Given the description of an element on the screen output the (x, y) to click on. 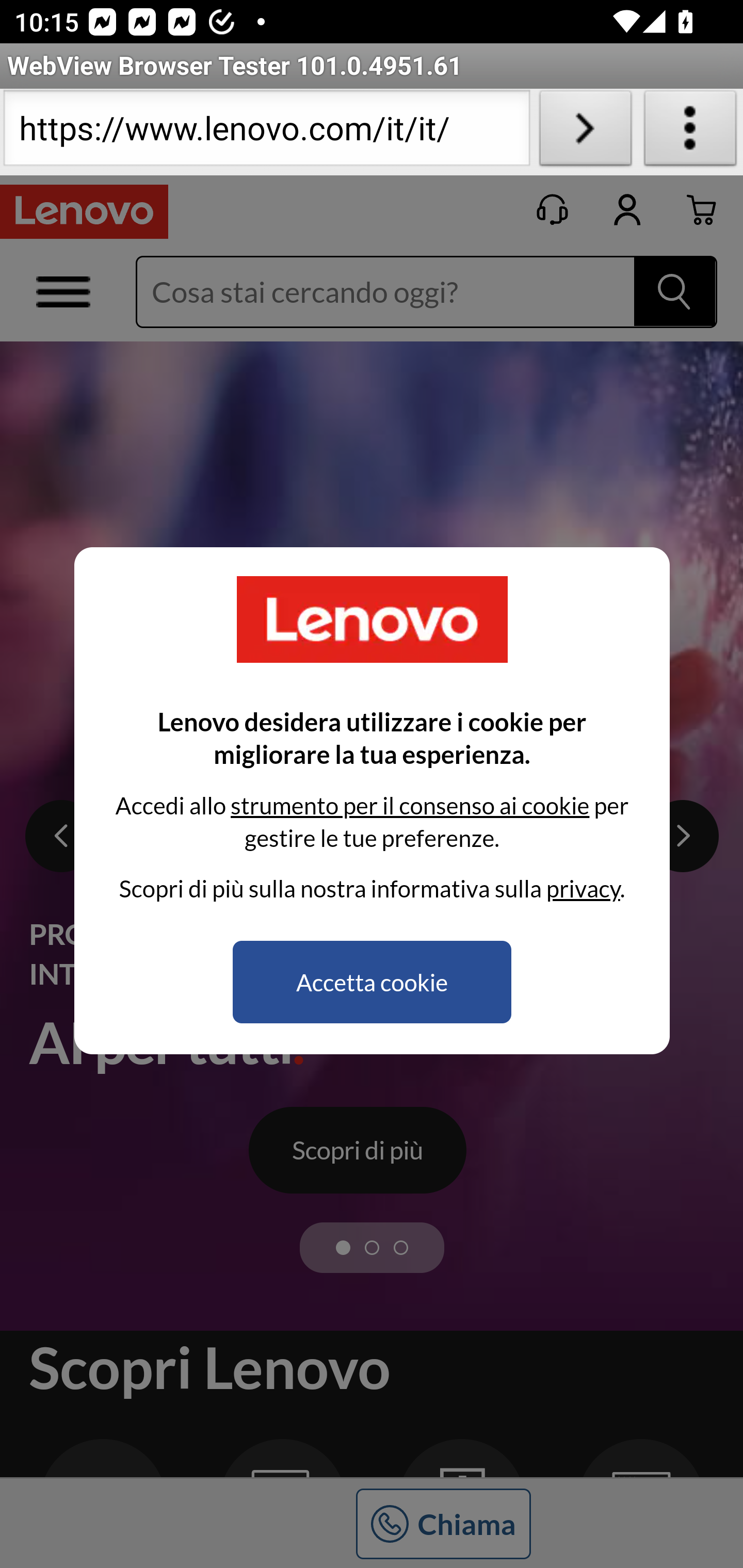
https://www.lenovo.com/it/it/ (266, 132)
Load URL (585, 132)
About WebView (690, 132)
strumento per il consenso ai cookie (408, 805)
Previous slide (61, 836)
Next slide (682, 836)
privacy (583, 888)
Accetta cookie (371, 981)
